Given the description of an element on the screen output the (x, y) to click on. 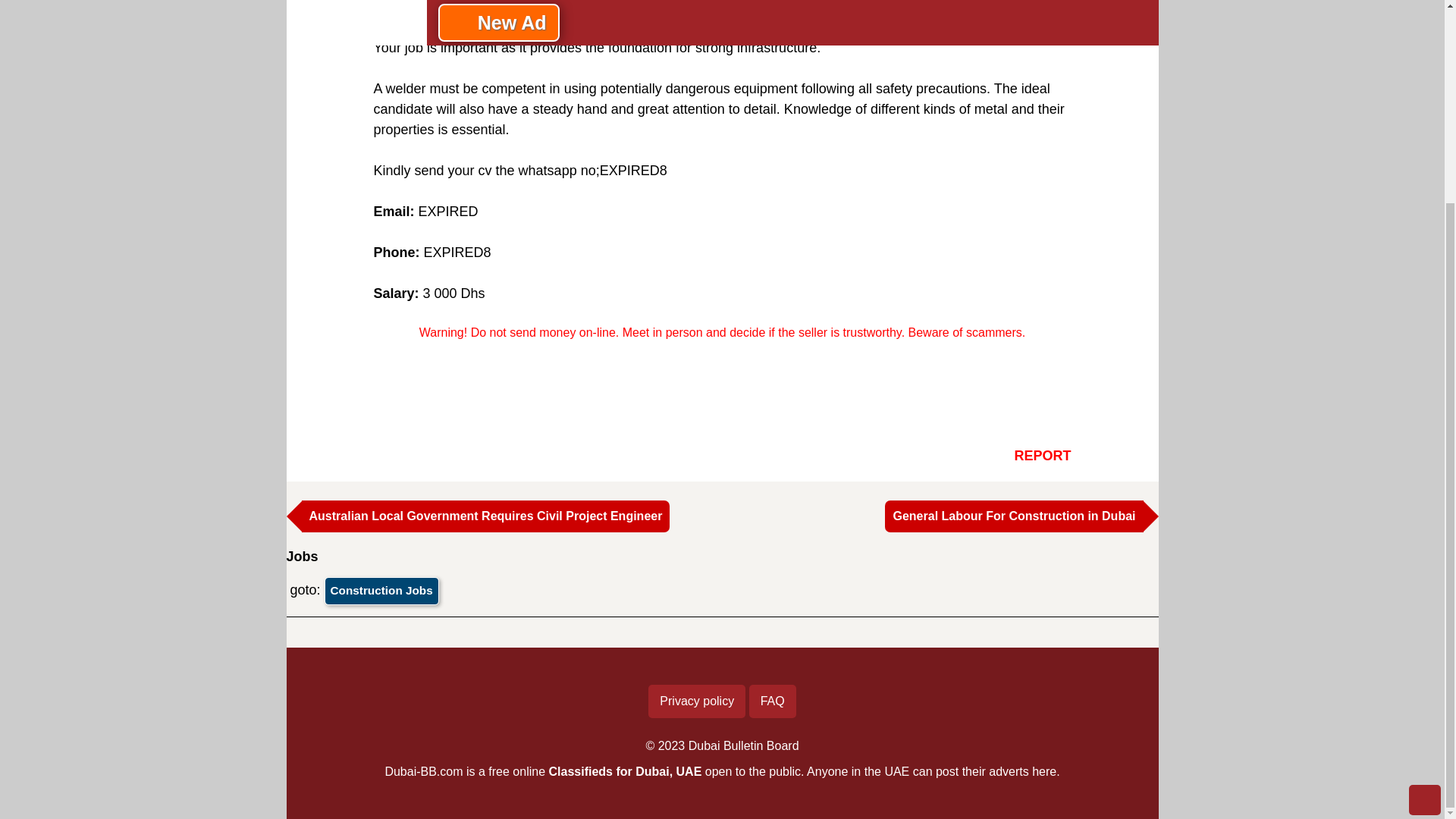
Privacy policy (696, 701)
Australian Local Government Requires Civil Project Engineer (485, 516)
Construction Jobs in Dubai, United Arab Emirates (381, 590)
General Labour For Construction in Dubai (1013, 516)
Construction Jobs (381, 590)
Classifieds for Dubai, UAE (624, 771)
FAQ (772, 701)
